Given the description of an element on the screen output the (x, y) to click on. 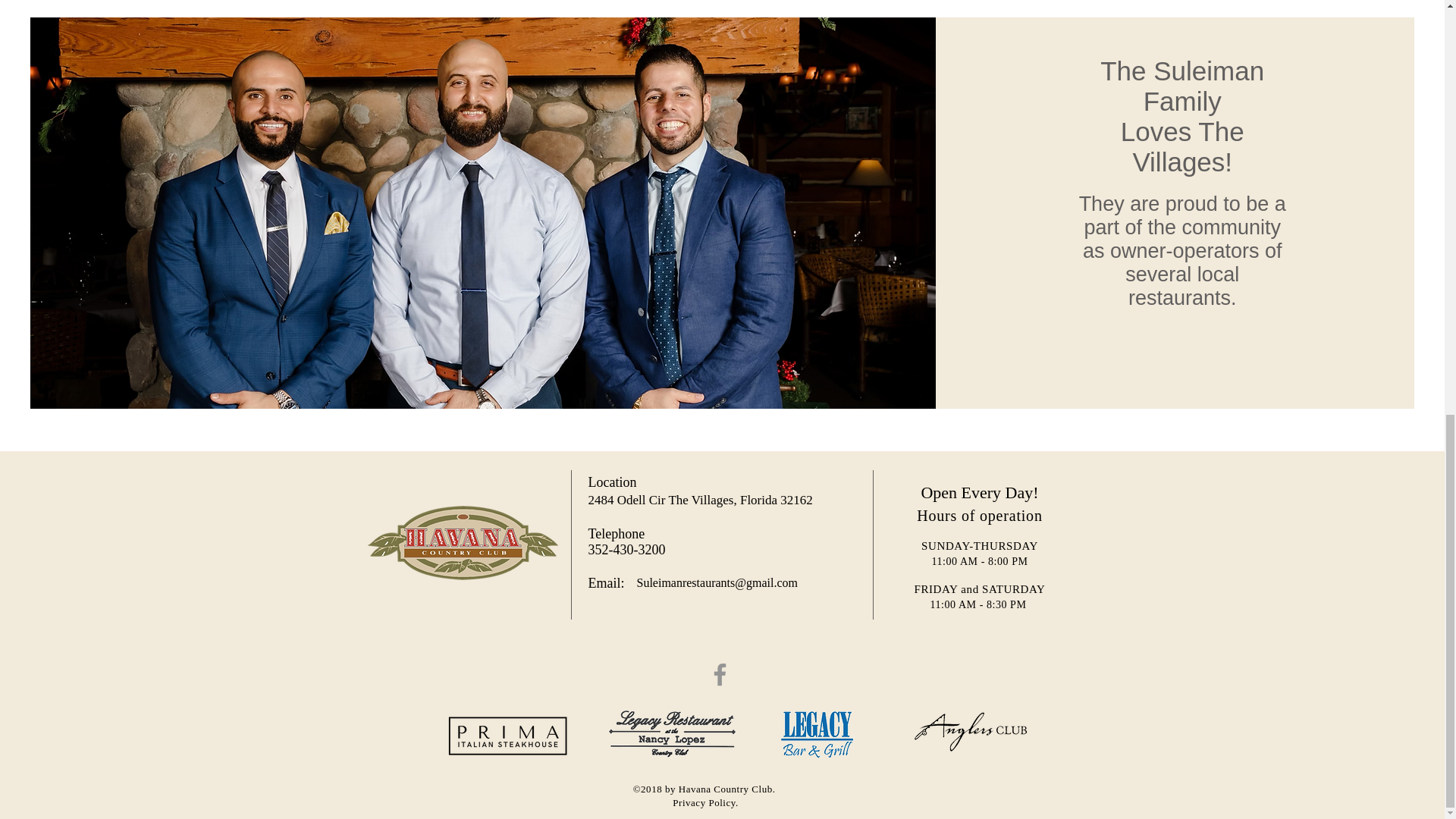
352-430-3200 (626, 549)
Privacy Policy. (705, 802)
Open Every Day! (979, 492)
